Given the description of an element on the screen output the (x, y) to click on. 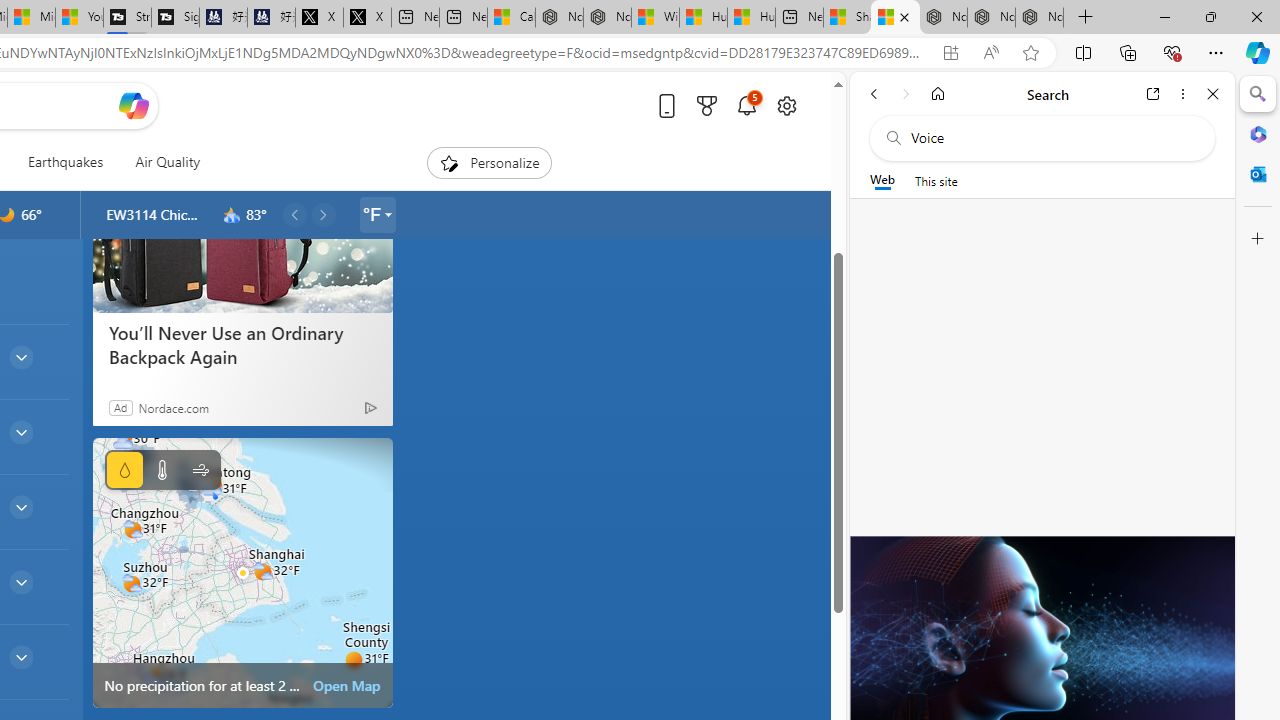
Nordace - Siena Pro 15 Essential Set (1039, 17)
Shanghai, China hourly forecast | Microsoft Weather (895, 17)
